Given the description of an element on the screen output the (x, y) to click on. 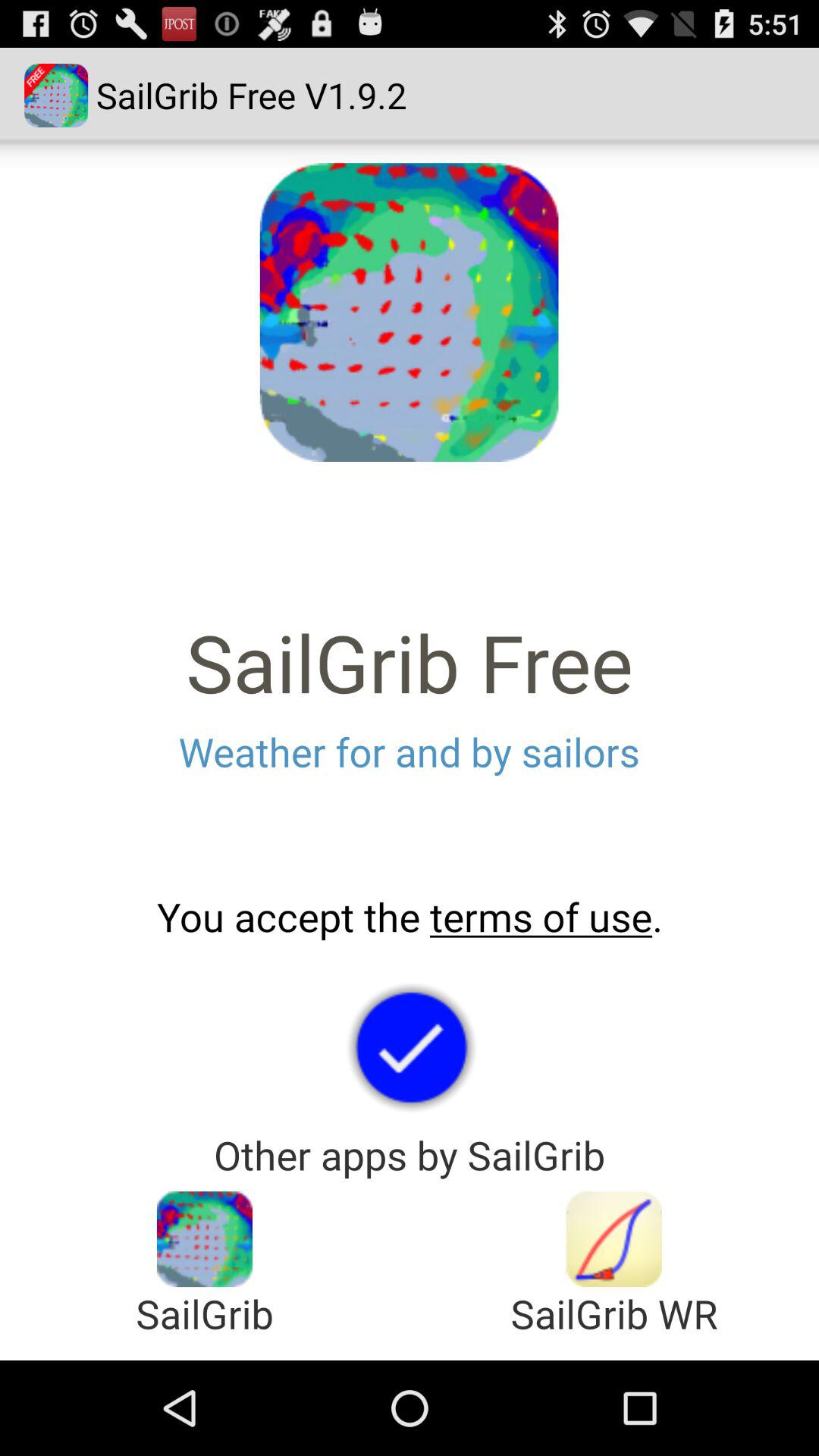
download sailgrib app (614, 1239)
